Given the description of an element on the screen output the (x, y) to click on. 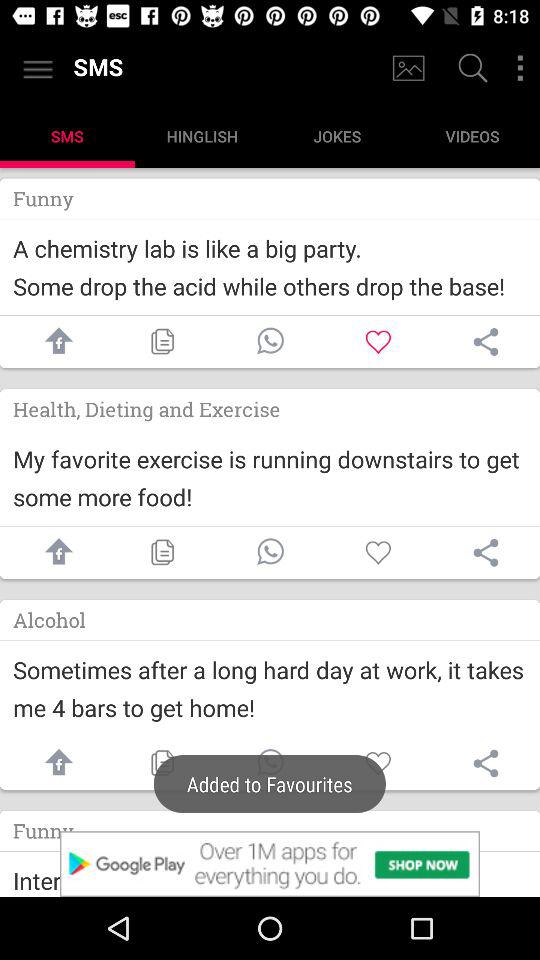
like option (378, 341)
